Given the description of an element on the screen output the (x, y) to click on. 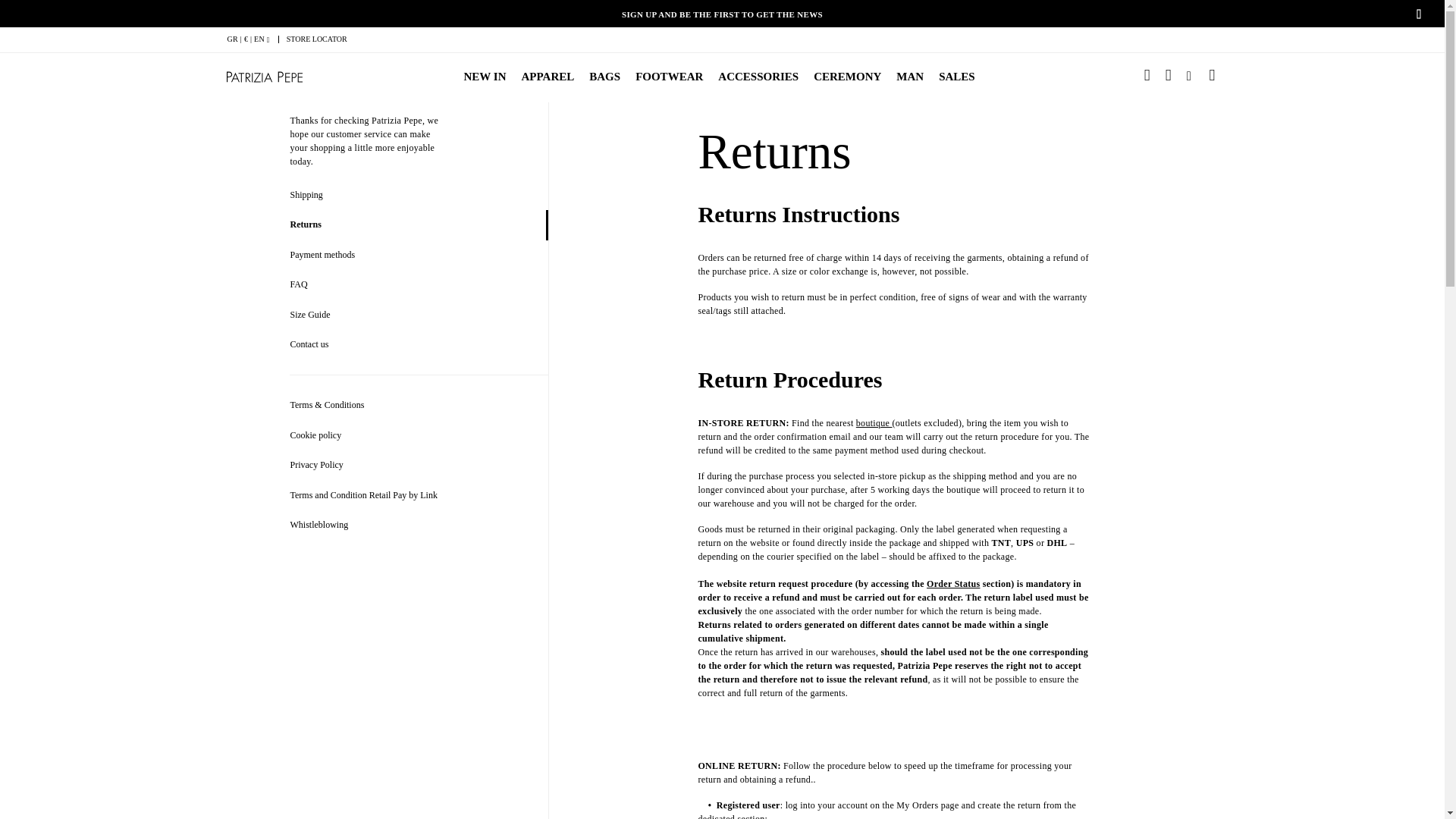
APPAREL (548, 76)
SIGN UP AND BE THE FIRST TO GET THE NEWS (721, 4)
STORE LOCATOR (316, 39)
NEW IN (485, 76)
Patrizia Pepe Website Home (263, 76)
